Given the description of an element on the screen output the (x, y) to click on. 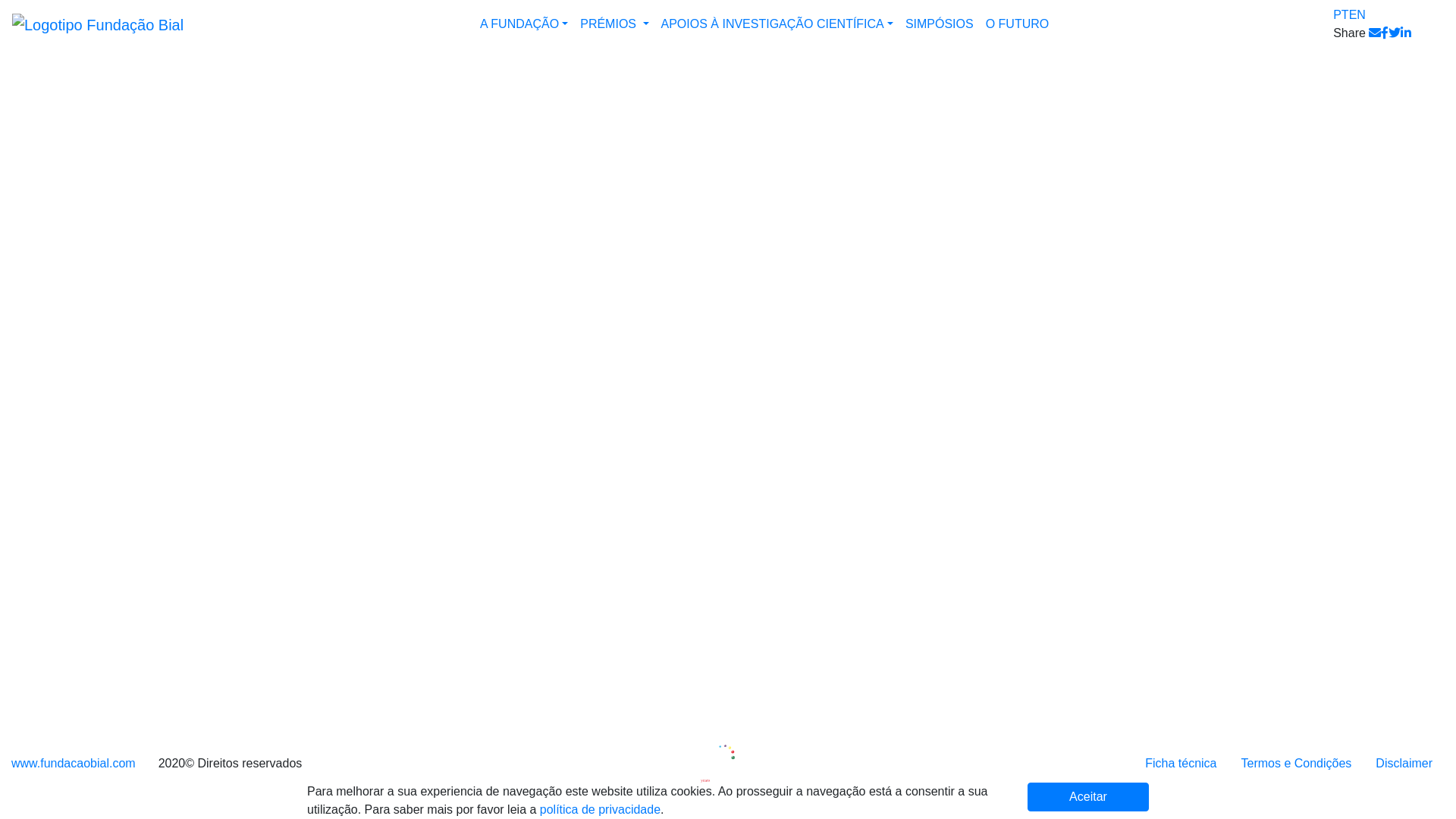
www.fundacaobial.com Element type: text (73, 762)
twitter Element type: hover (1394, 32)
Disclaimer Element type: text (1403, 763)
Aceitar Element type: text (1087, 796)
facebook Element type: hover (1384, 32)
email Element type: hover (1374, 32)
EN Element type: text (1357, 14)
linkedin Element type: hover (1405, 32)
O FUTURO Element type: text (1017, 24)
PT Element type: text (1340, 14)
